Given the description of an element on the screen output the (x, y) to click on. 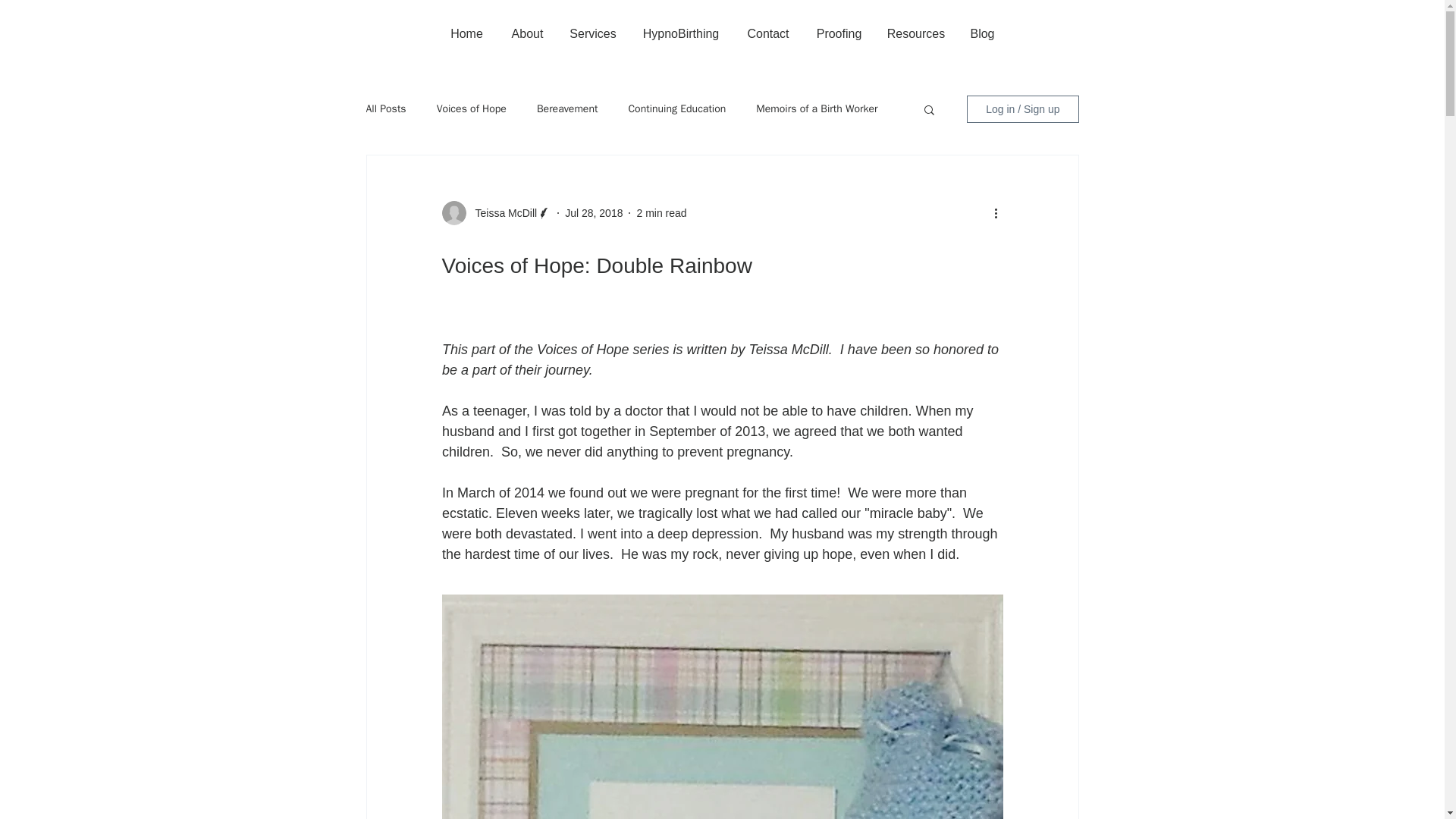
Proofing (838, 34)
2 min read (660, 212)
HypnoBirthing (680, 34)
All Posts (385, 109)
Memoirs of a Birth Worker (816, 109)
Voices of Hope (471, 109)
Bereavement (567, 109)
Home (466, 34)
Blog (982, 34)
Services (592, 34)
